Given the description of an element on the screen output the (x, y) to click on. 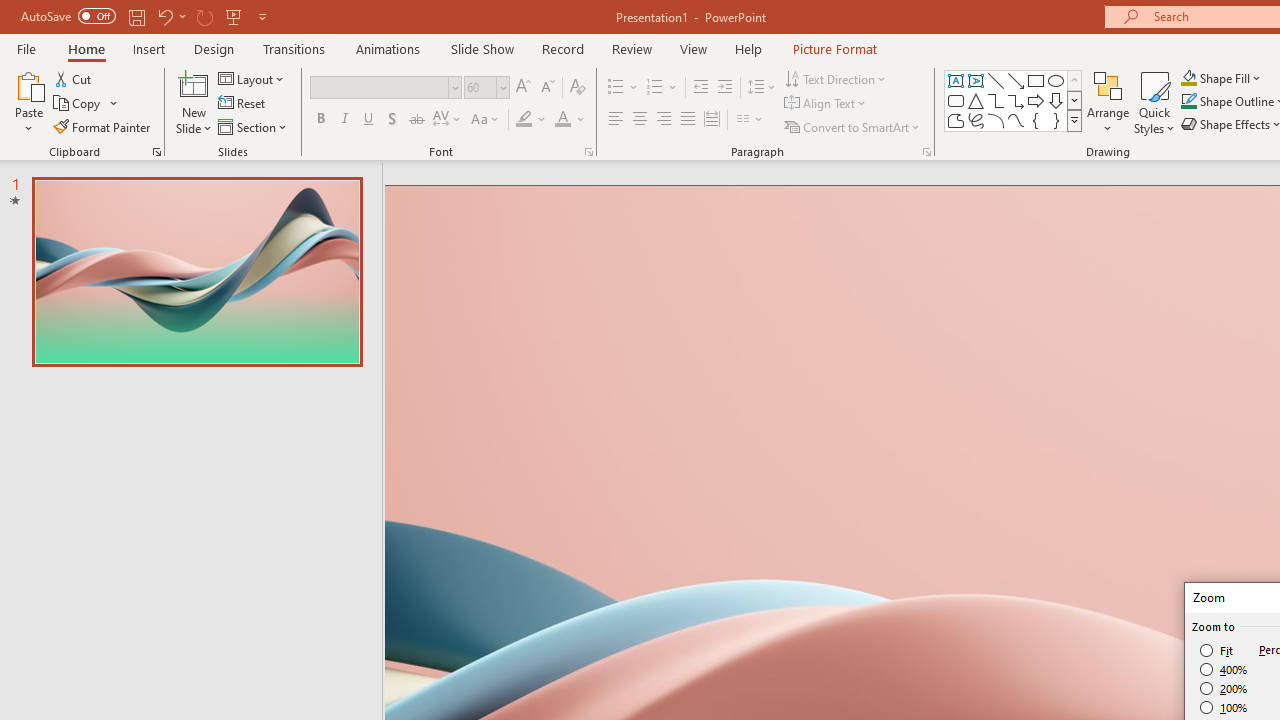
200% (1224, 688)
